Given the description of an element on the screen output the (x, y) to click on. 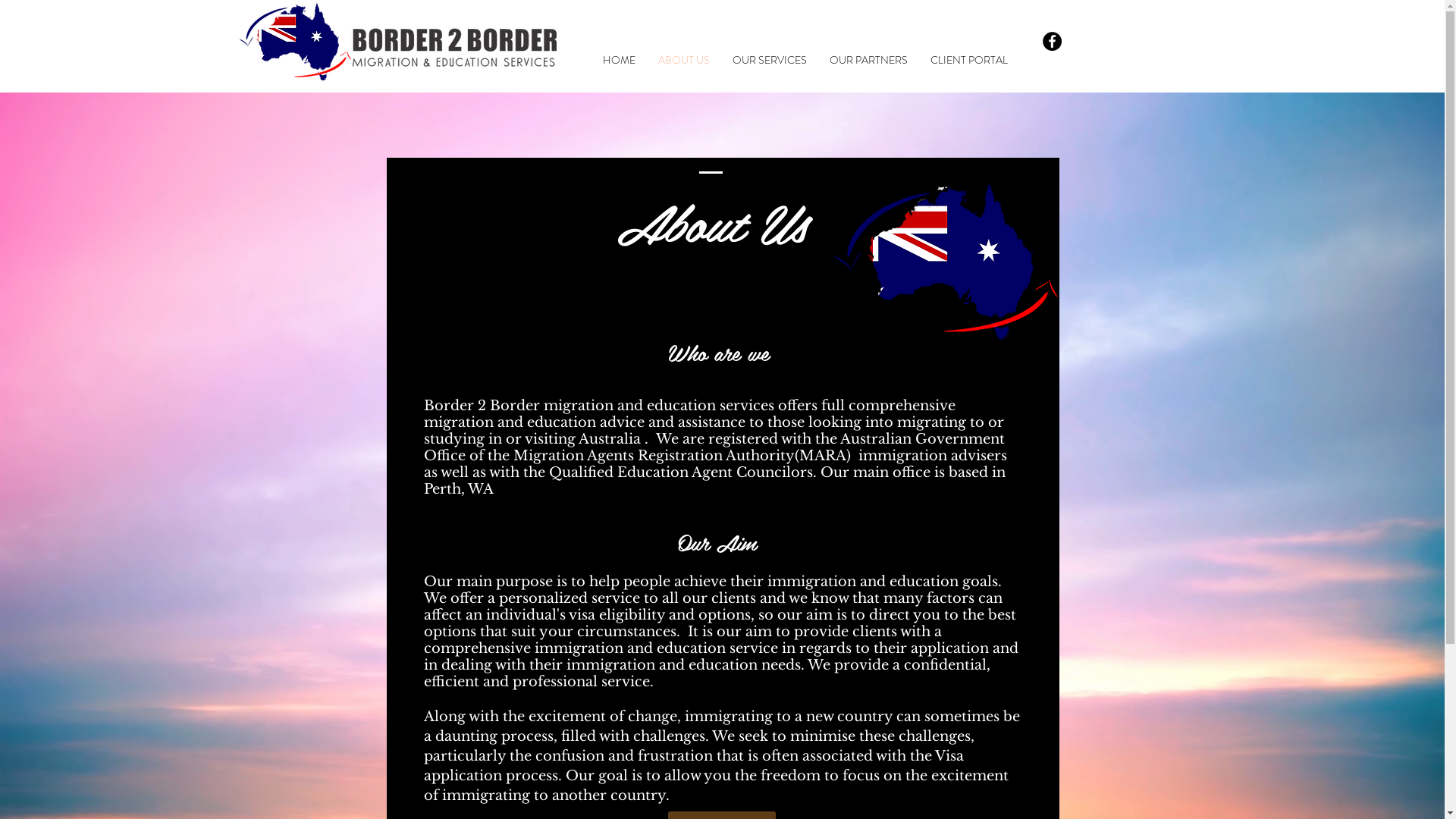
OUR PARTNERS Element type: text (867, 59)
CLIENT PORTAL Element type: text (969, 59)
HOME Element type: text (618, 59)
ABOUT US Element type: text (683, 59)
OUR SERVICES Element type: text (768, 59)
